Given the description of an element on the screen output the (x, y) to click on. 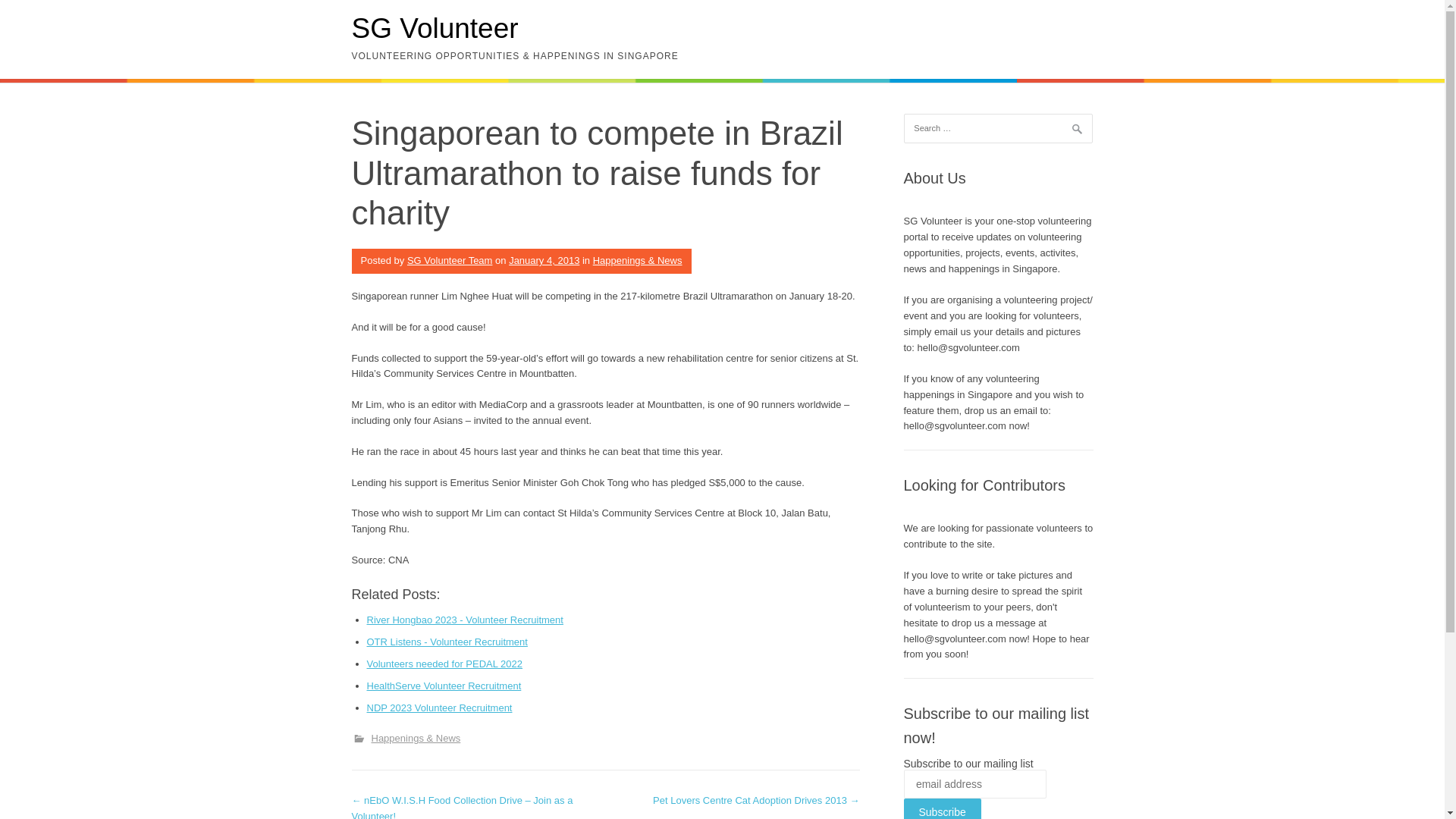
River Hongbao 2023 - Volunteer Recruitment (464, 619)
January 4, 2013 (543, 260)
SG Volunteer (435, 28)
NDP 2023 Volunteer Recruitment (439, 707)
Subscribe (942, 808)
HealthServe Volunteer Recruitment (443, 685)
SG Volunteer Team (450, 260)
Search (30, 15)
Volunteers needed for PEDAL 2022 (444, 663)
OTR Listens - Volunteer Recruitment (446, 641)
